Given the description of an element on the screen output the (x, y) to click on. 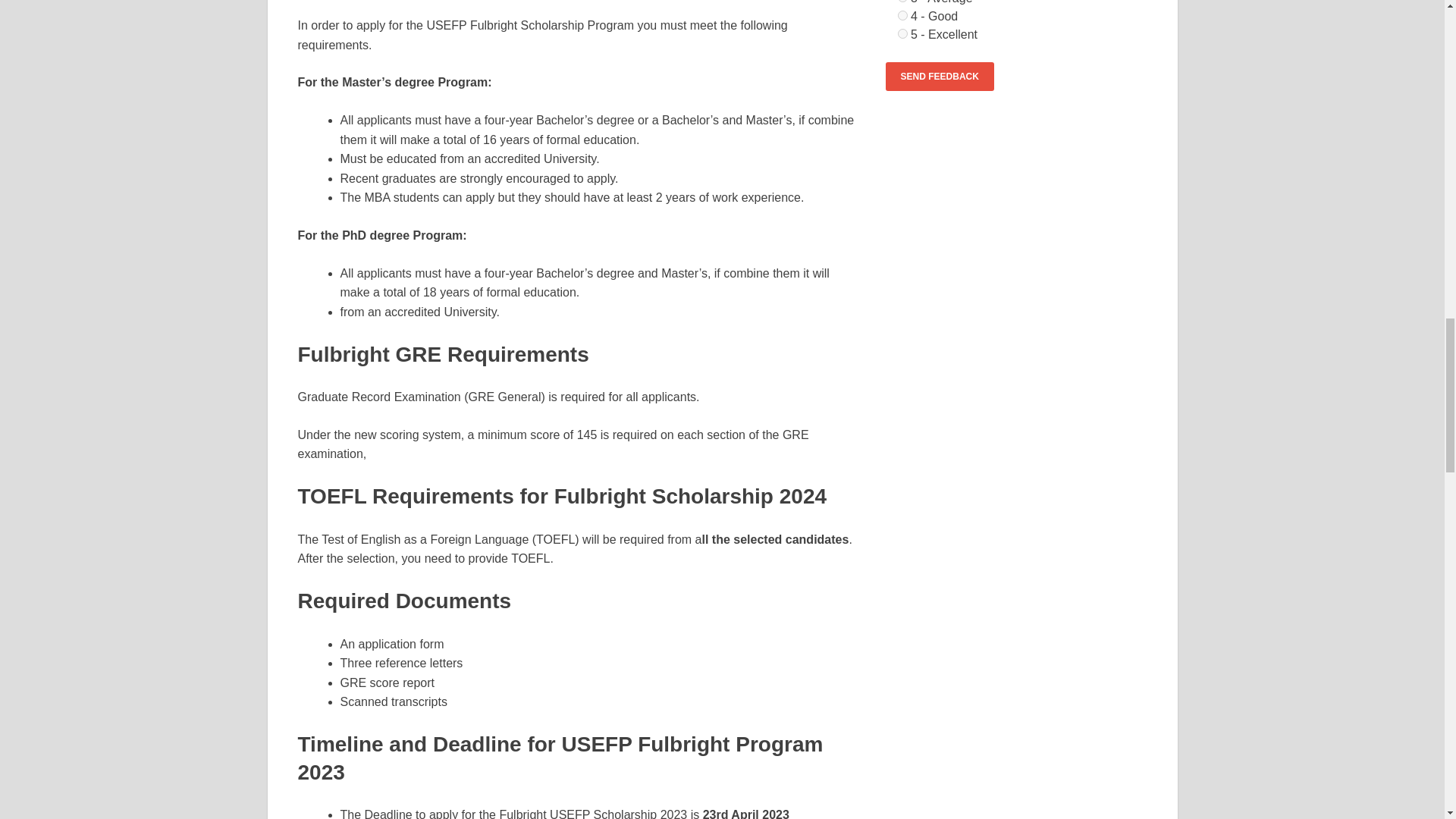
4 - Good (902, 15)
SEND FEEDBACK (939, 76)
5 - Excellent (902, 33)
